Given the description of an element on the screen output the (x, y) to click on. 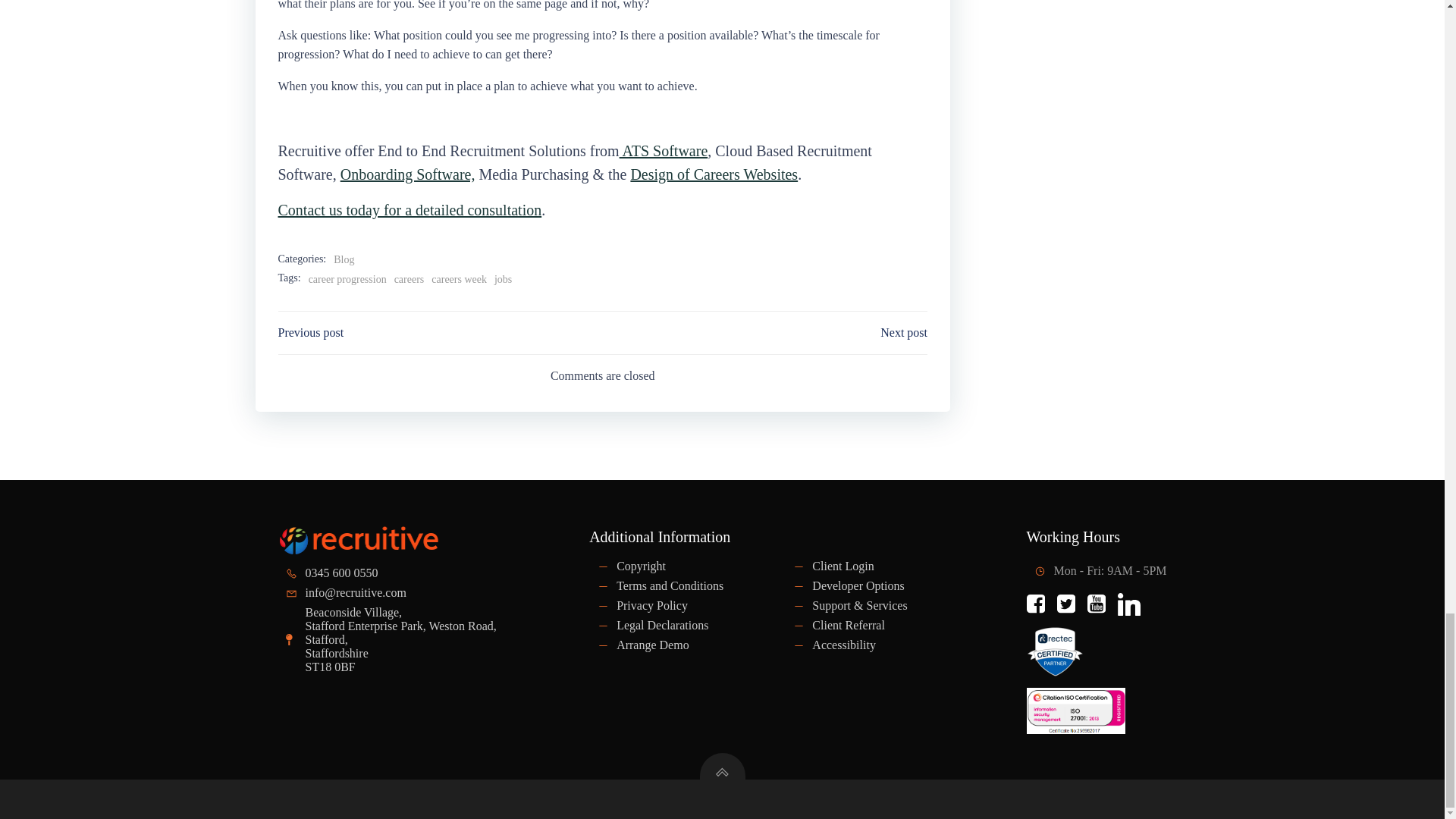
Design of Careers Websites (713, 174)
Contact us today for a detailed consultation (409, 209)
careers Tag (409, 279)
ATS Software (663, 150)
Previous post (310, 332)
career progression (347, 279)
careers (409, 279)
career progression Tag (347, 279)
Onboarding Software, (408, 174)
Blog (343, 259)
careers week (458, 279)
jobs (503, 279)
jobs Tag (503, 279)
careers week Tag (458, 279)
